Given the description of an element on the screen output the (x, y) to click on. 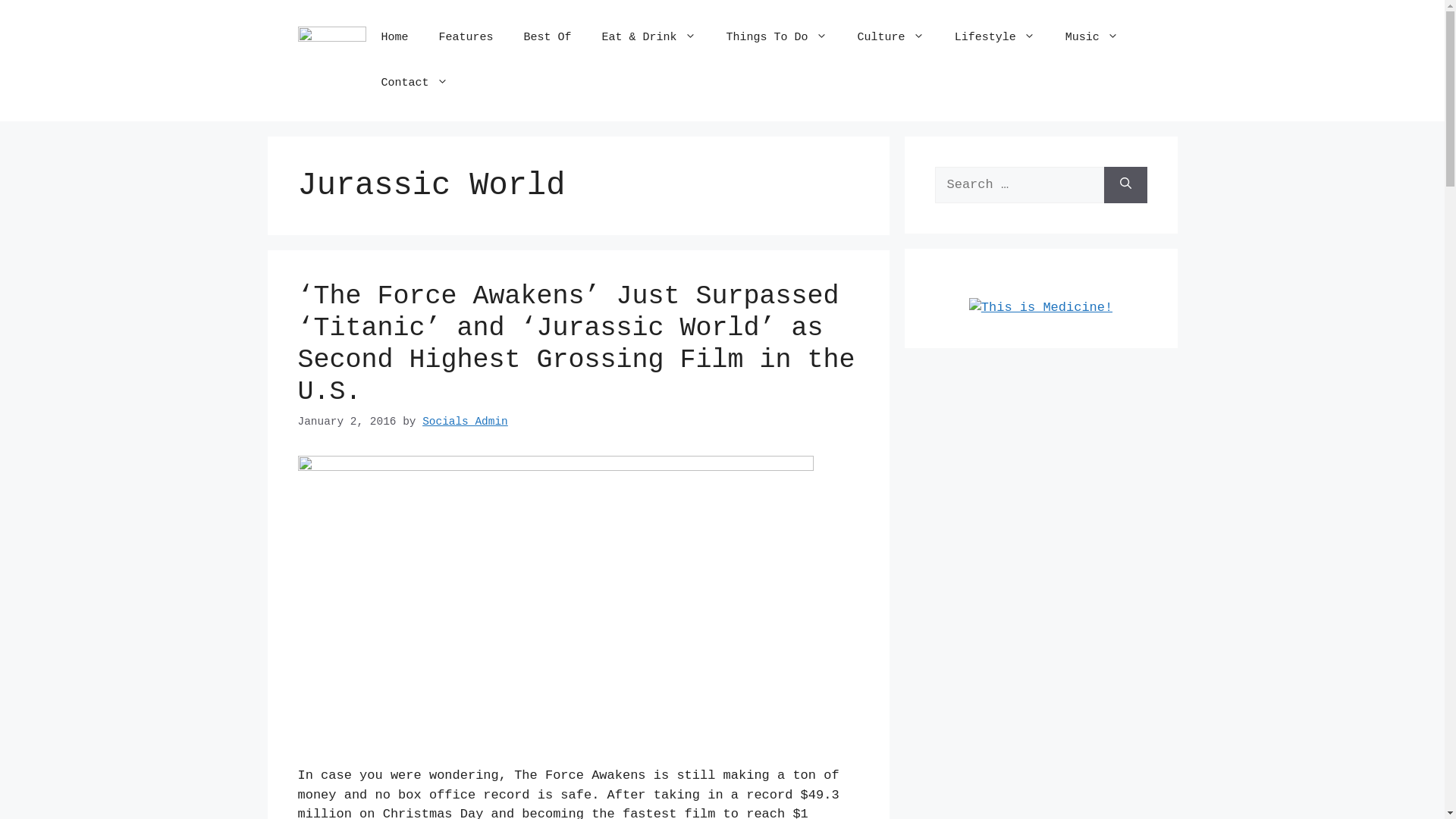
Eat & Drink Element type: text (648, 37)
Lifestyle Element type: text (994, 37)
Things To Do Element type: text (776, 37)
Search for: Element type: hover (1018, 184)
Home Element type: text (394, 37)
Best Of Element type: text (547, 37)
Contact Element type: text (413, 83)
Features Element type: text (465, 37)
Socials Admin Element type: text (465, 421)
Music Element type: text (1091, 37)
Culture Element type: text (890, 37)
